Given the description of an element on the screen output the (x, y) to click on. 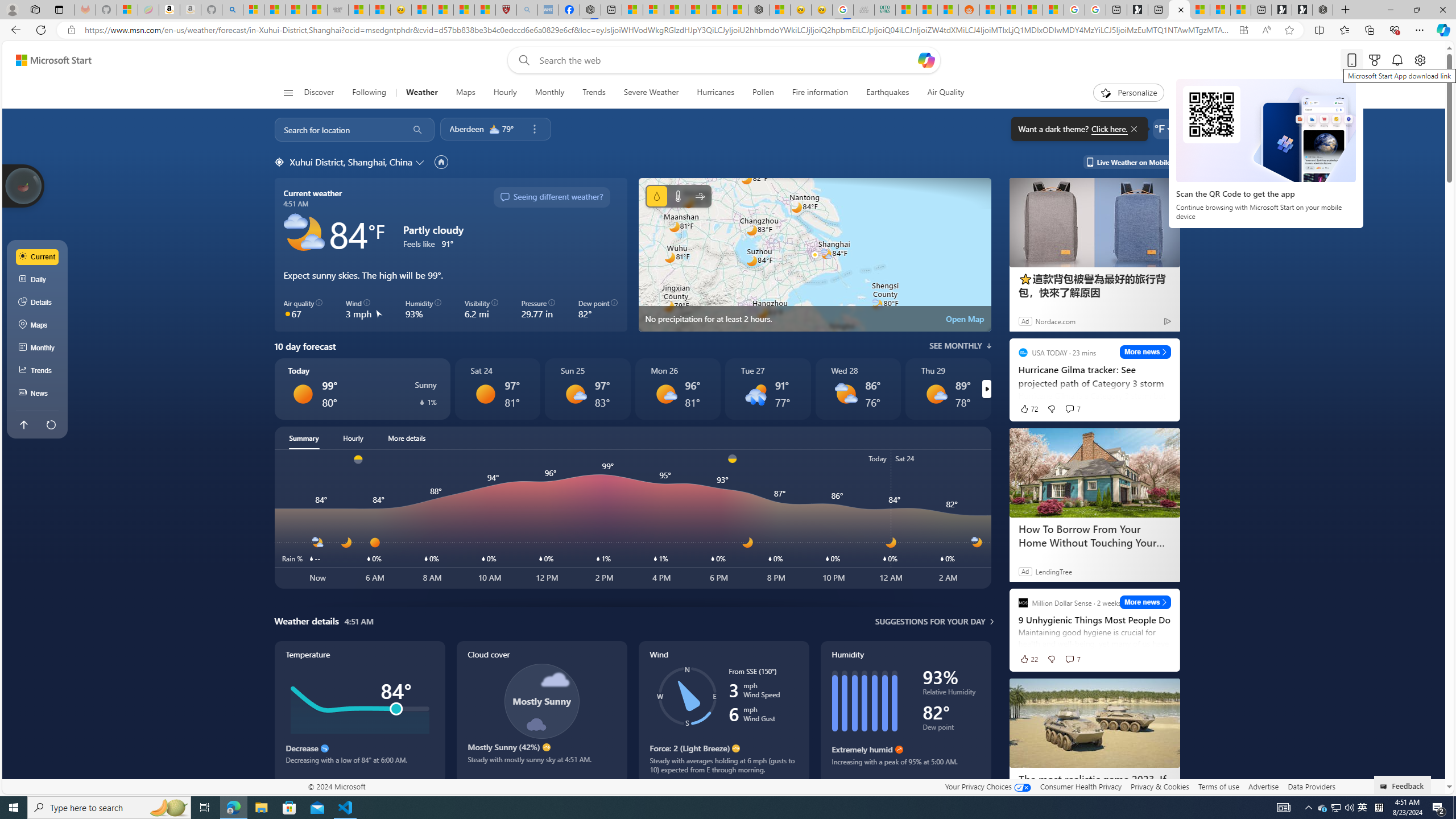
Refresh this page (50, 424)
Relative Humidity (951, 693)
Earthquakes (887, 92)
Terms of use (1218, 785)
Partly sunny (845, 393)
Open settings (1420, 60)
